Given the description of an element on the screen output the (x, y) to click on. 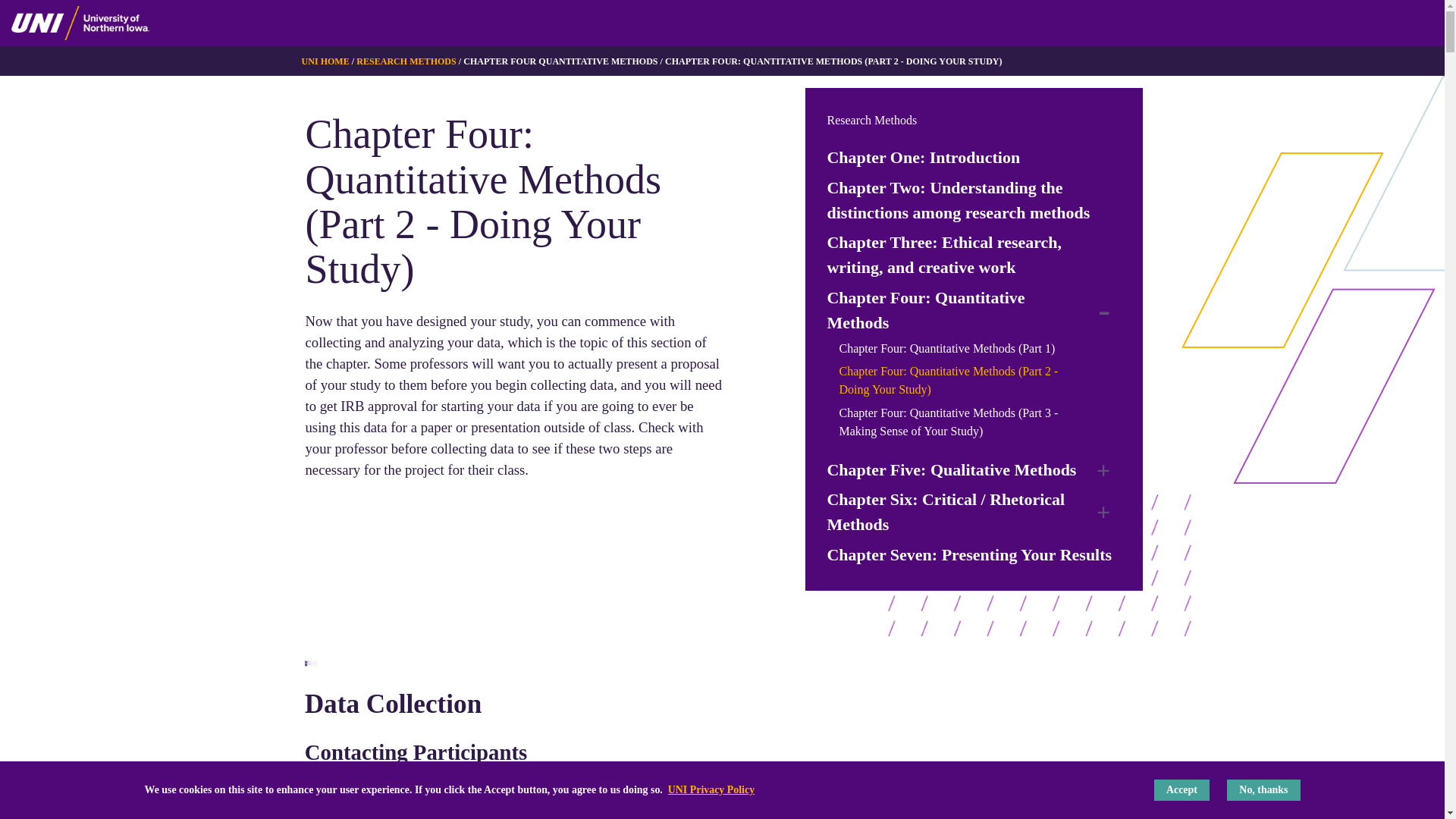
No, thanks (1263, 789)
RESEARCH METHODS (406, 61)
Chapter Three: Ethical research, writing, and creative work (974, 254)
UNI HOME (325, 61)
UNI Privacy Policy (711, 789)
Chapter One: Introduction (923, 156)
Accept (1181, 789)
Research Methods (872, 119)
Chapter Seven: Presenting Your Results (969, 554)
